Given the description of an element on the screen output the (x, y) to click on. 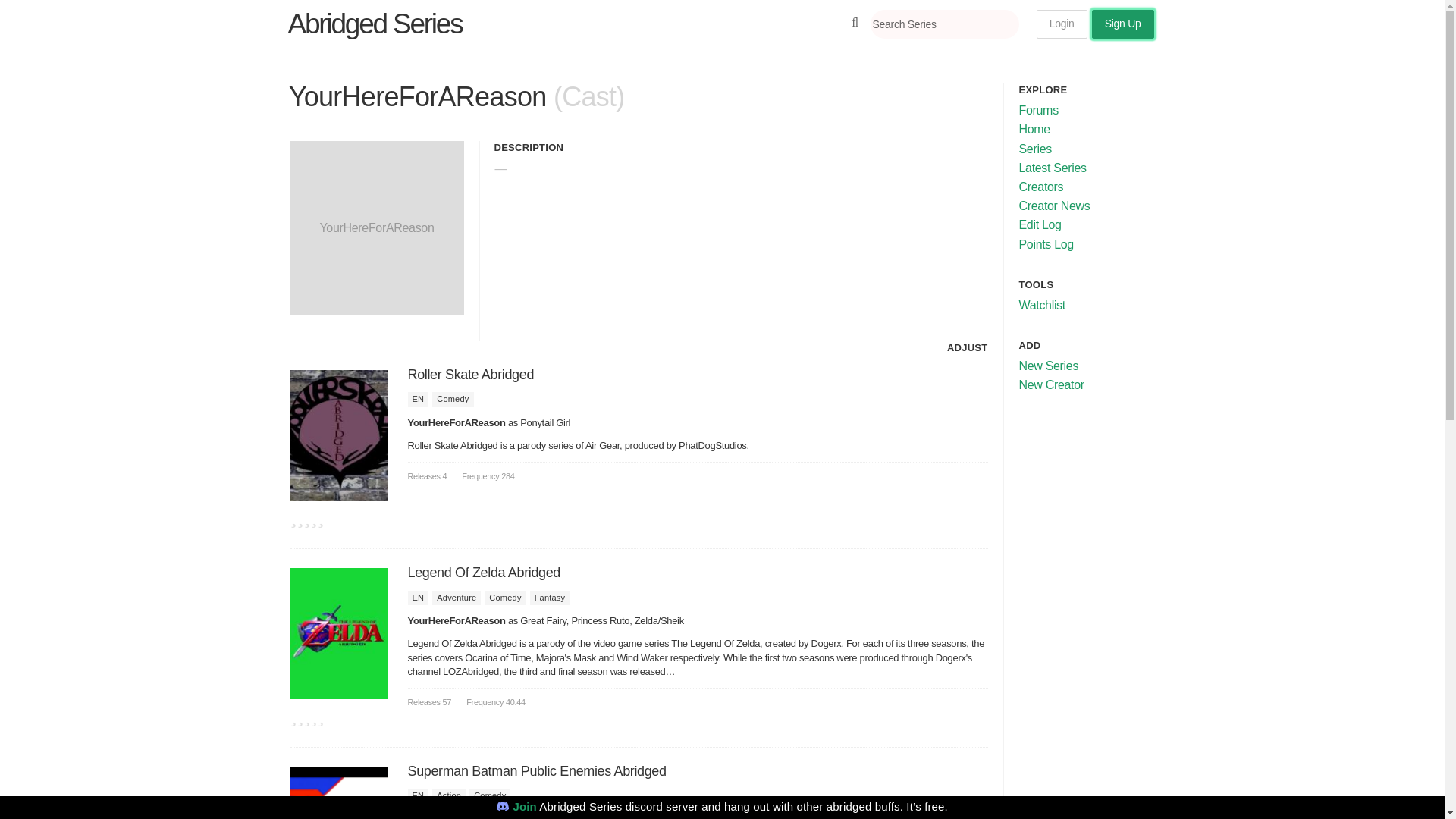
Forums (1038, 110)
Creator News (1054, 205)
Series (1035, 148)
English (418, 597)
English (418, 795)
AbridgedSeries.com (375, 23)
Cast (588, 96)
Home (1034, 128)
Latest Series (1052, 167)
